Given the description of an element on the screen output the (x, y) to click on. 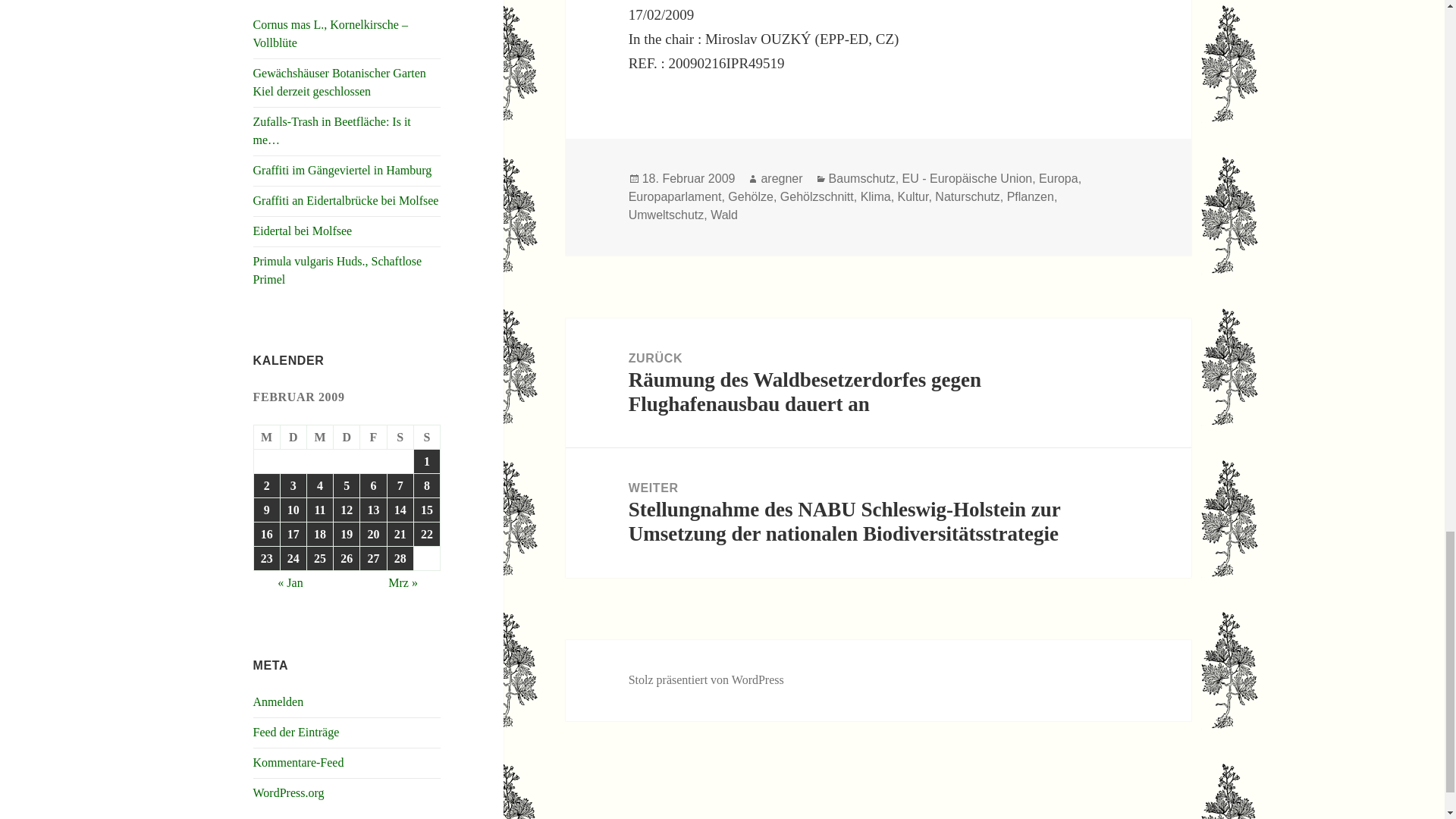
Dienstag (294, 437)
Mittwoch (320, 437)
Montag (267, 437)
Freitag (373, 437)
Sonntag (427, 437)
Samstag (400, 437)
Donnerstag (346, 437)
